Given the description of an element on the screen output the (x, y) to click on. 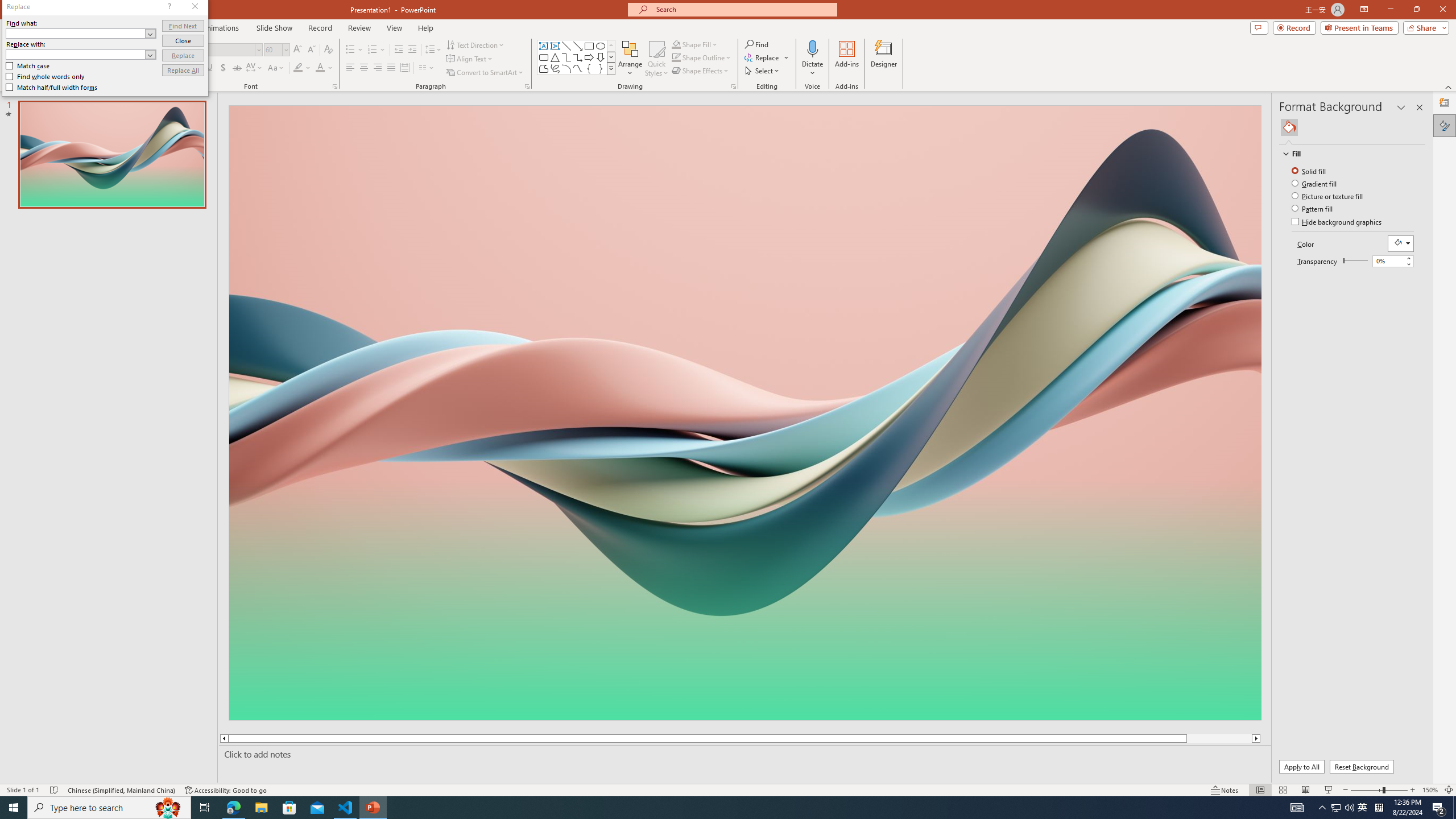
Format Background (1444, 125)
Replace All (183, 69)
Replace with (80, 54)
